Given the description of an element on the screen output the (x, y) to click on. 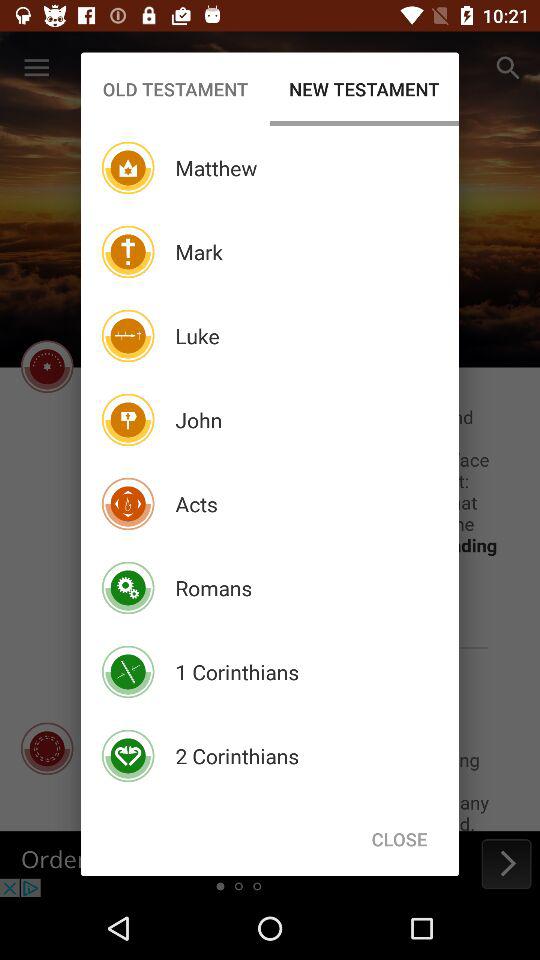
scroll to luke item (197, 335)
